Given the description of an element on the screen output the (x, y) to click on. 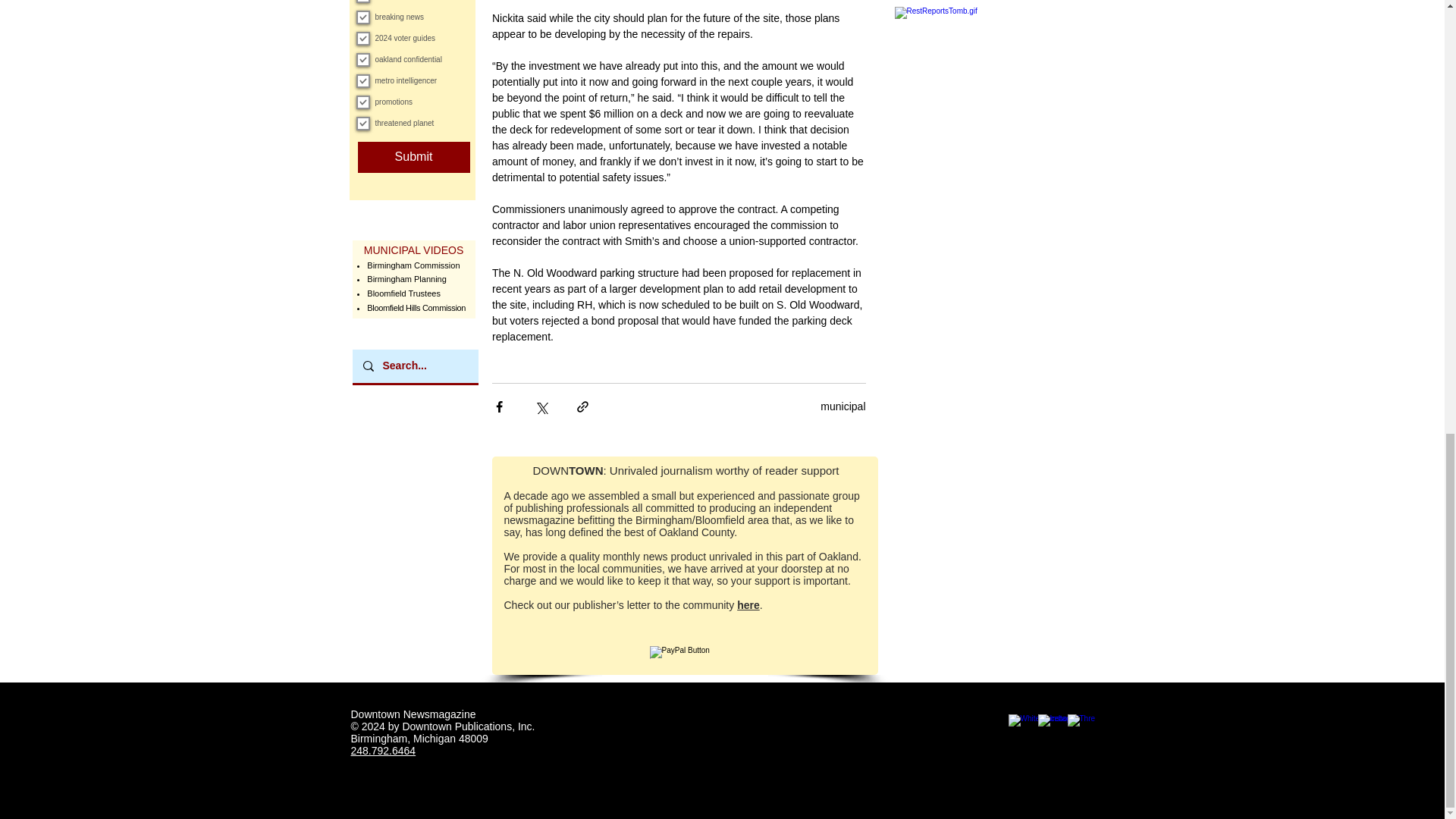
municipal (842, 406)
